Given the description of an element on the screen output the (x, y) to click on. 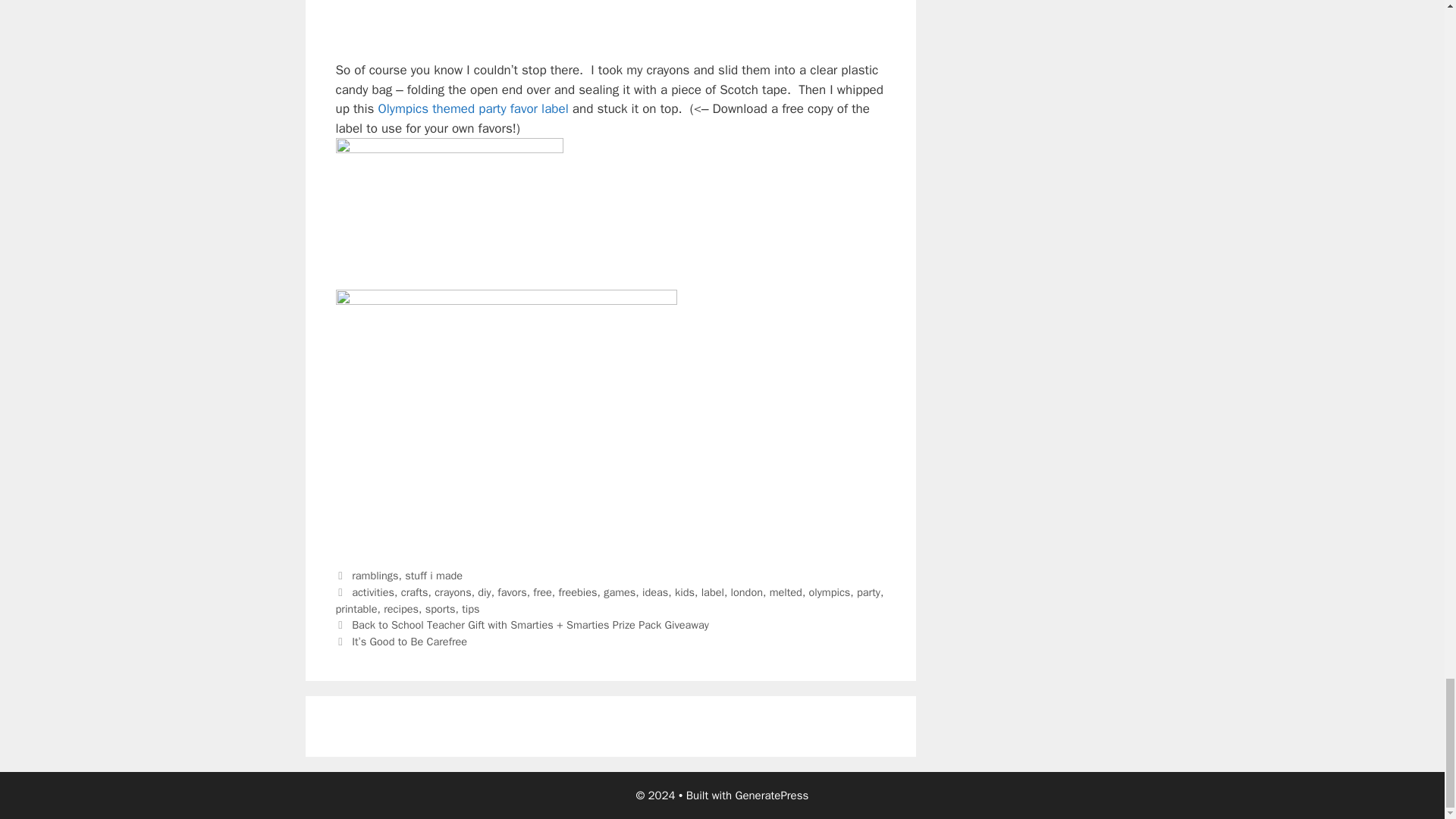
olympics crayons label TCL (448, 213)
crayons (451, 591)
stuff i made (433, 575)
Olympics themed party favor label (473, 108)
crafts (414, 591)
activities (373, 591)
Olympics Crayons TCL a (505, 20)
ramblings (374, 575)
